Given the description of an element on the screen output the (x, y) to click on. 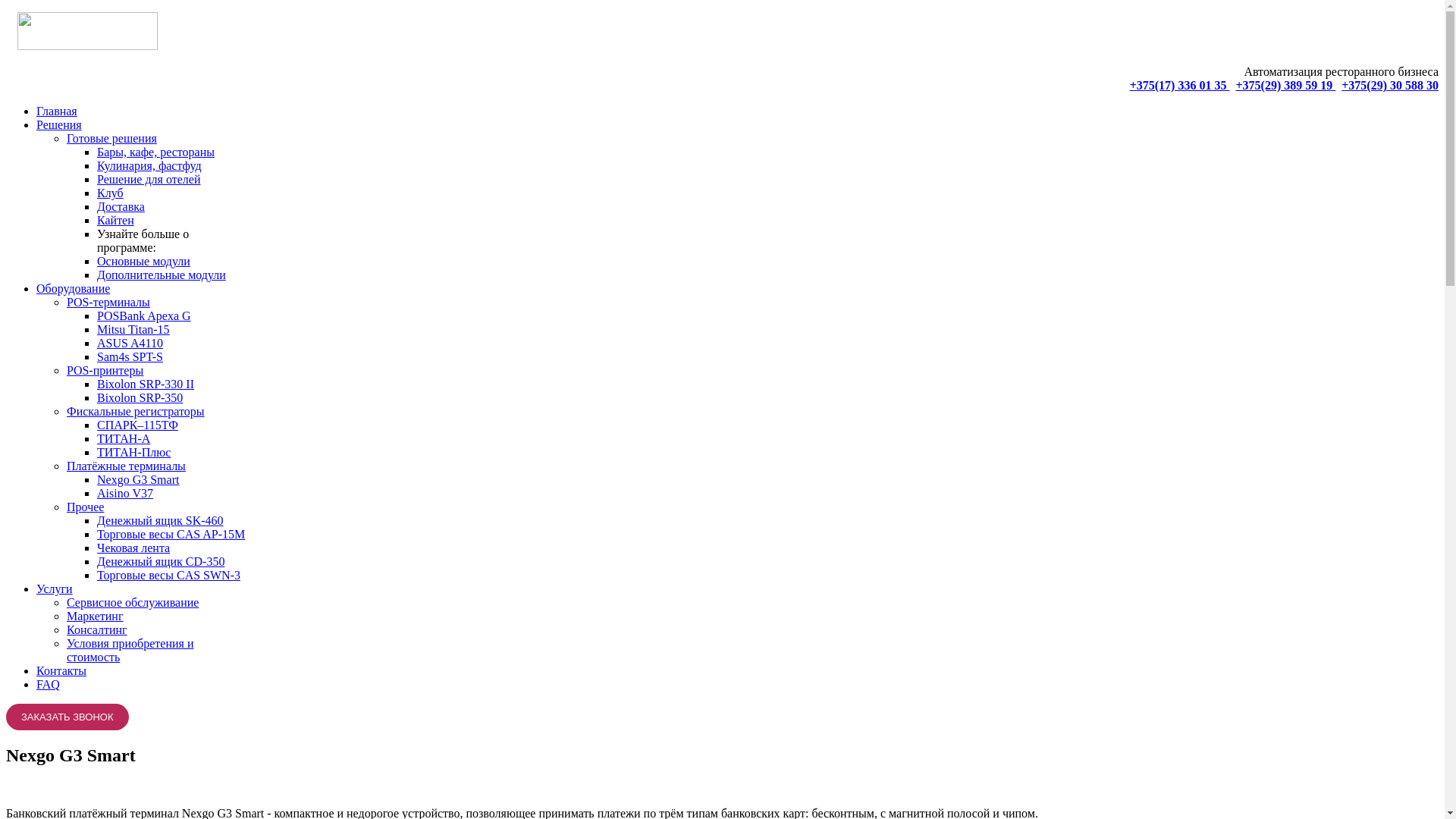
Sam4s SPT-S Element type: text (130, 356)
+375(17) 336 01 35  Element type: text (1179, 84)
POSBank Apexa G Element type: text (144, 315)
Aisino V37 Element type: text (125, 492)
Bixolon SRP-350 Element type: text (139, 397)
ASUS A4110 Element type: text (130, 342)
Nexgo G3 Smart Element type: text (137, 479)
Bixolon SRP-330 II Element type: text (145, 383)
FAQ Element type: text (47, 683)
+375(29) 389 59 19  Element type: text (1285, 84)
Mitsu Titan-15 Element type: text (133, 329)
+375(29) 30 588 30 Element type: text (1389, 84)
